Given the description of an element on the screen output the (x, y) to click on. 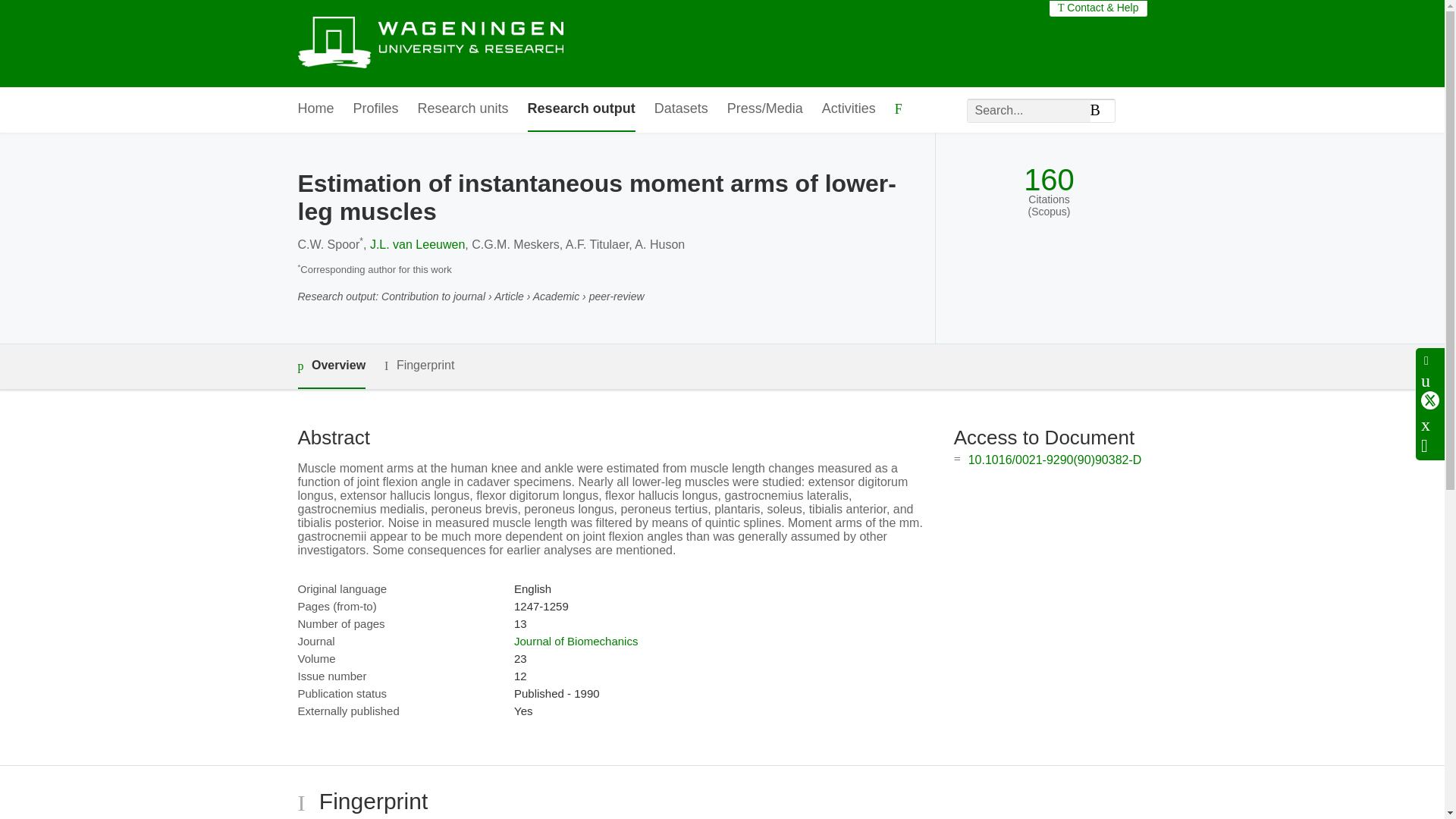
J.L. van Leeuwen (416, 287)
Overview (331, 410)
Datasets (680, 108)
Activities (849, 108)
160 (1048, 223)
Projects (341, 153)
Journal of Biomechanics (575, 684)
Fingerprint (419, 409)
Research units (462, 108)
Research output (580, 108)
